Given the description of an element on the screen output the (x, y) to click on. 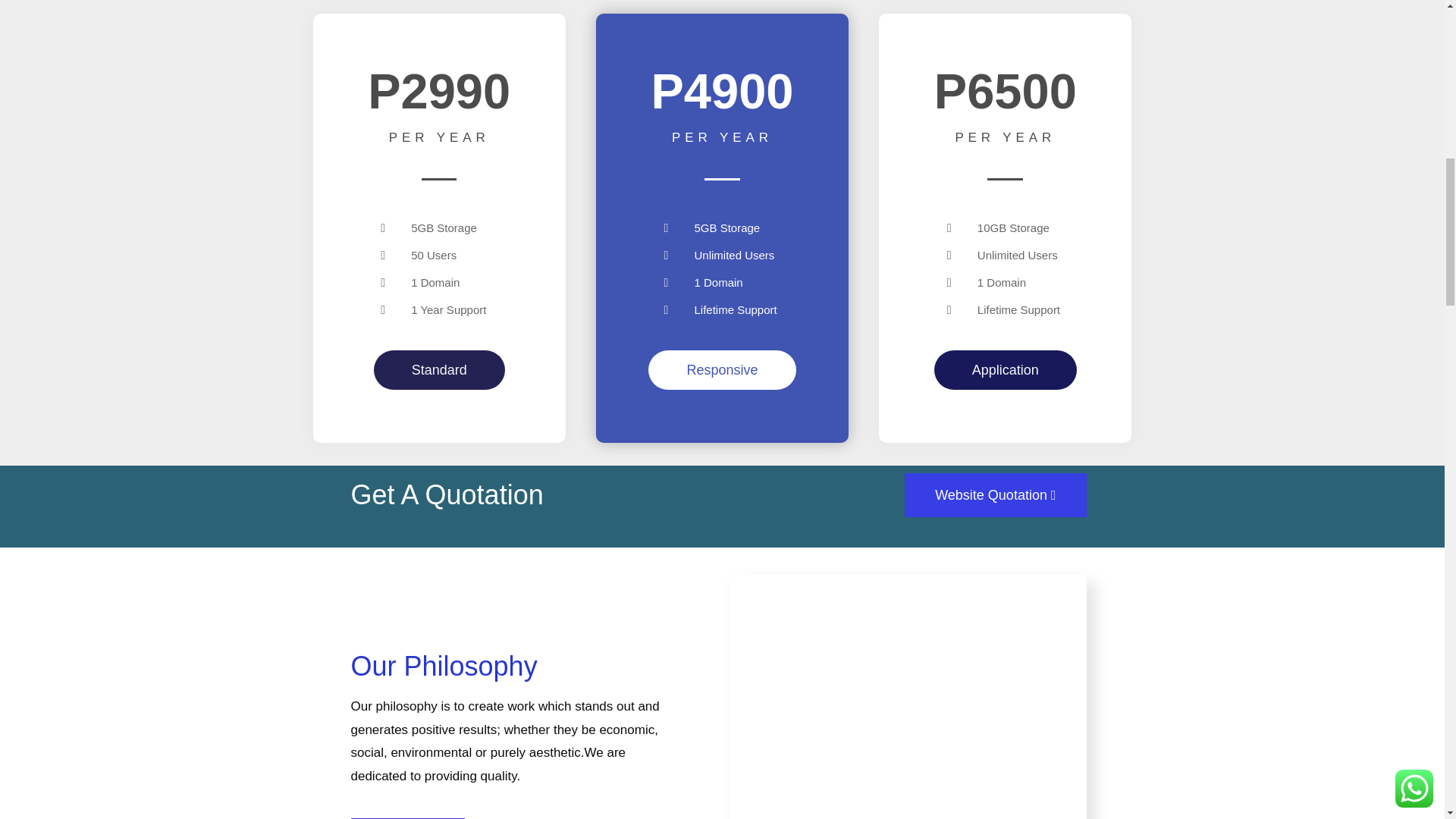
Application (1005, 369)
Website Quotation (995, 494)
Standard (439, 369)
Responsive (720, 369)
